Given the description of an element on the screen output the (x, y) to click on. 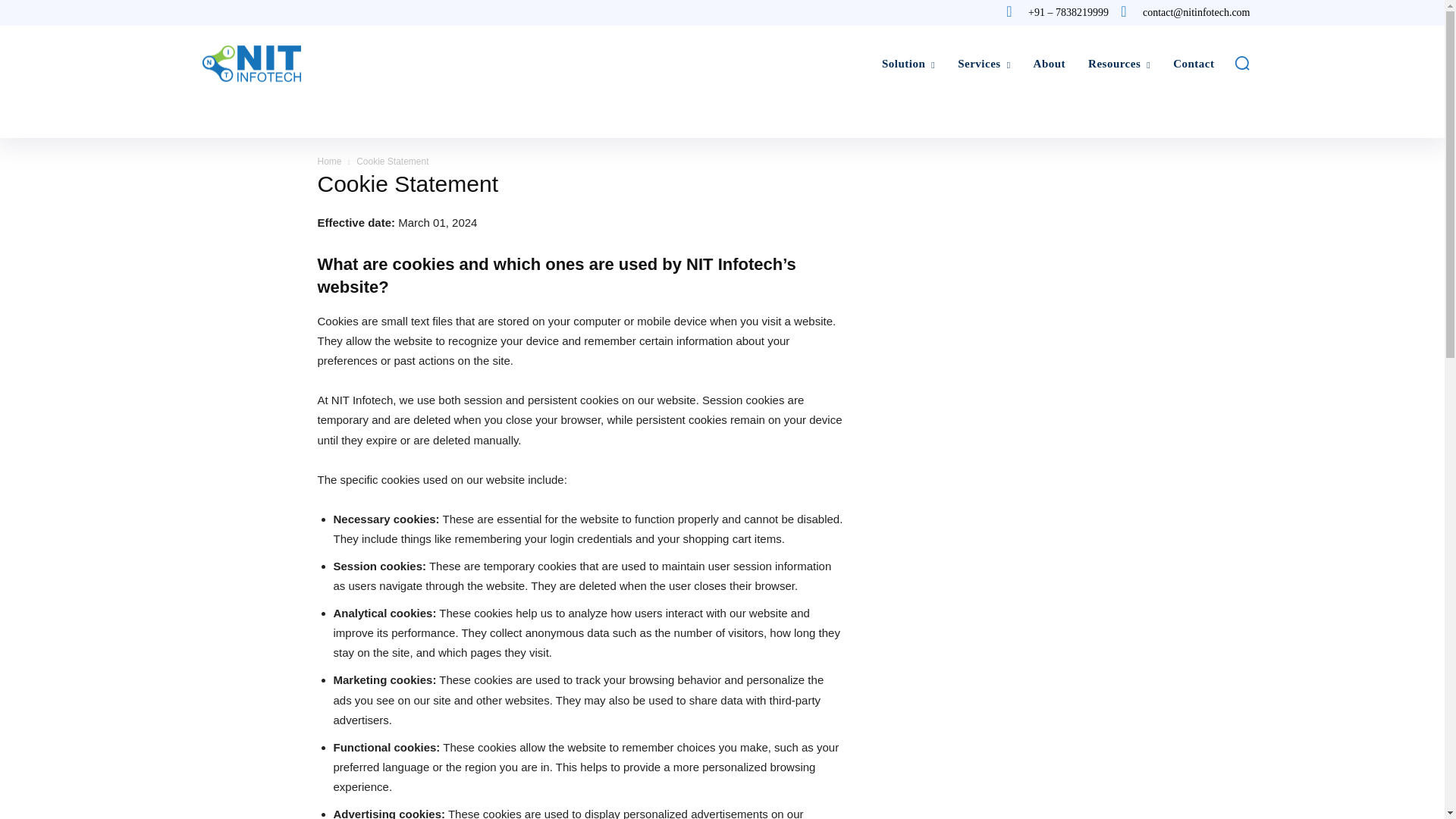
Solution (908, 63)
